Given the description of an element on the screen output the (x, y) to click on. 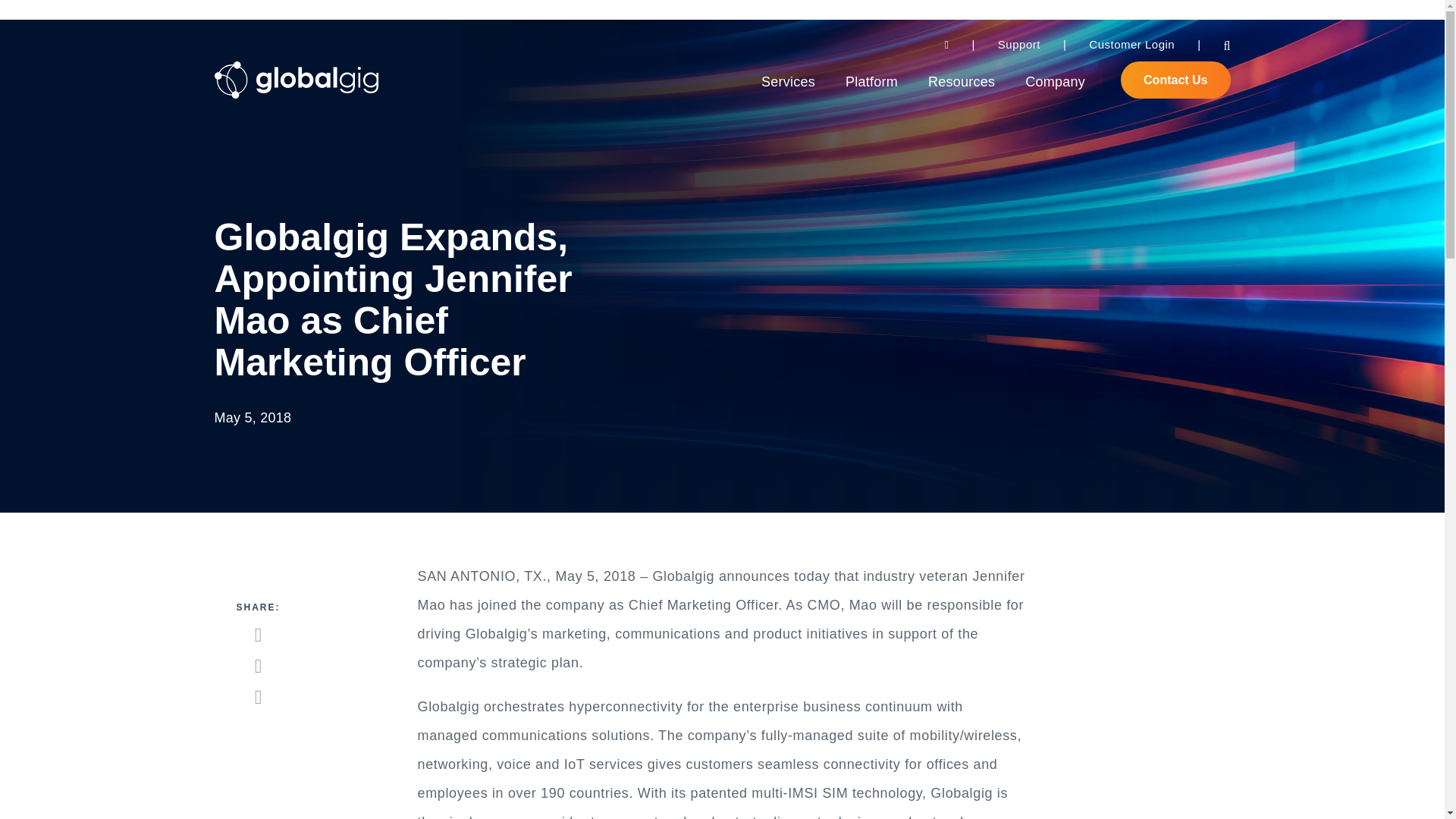
Company (1054, 81)
Platform (871, 81)
Support (1019, 44)
Resources (961, 81)
Contact Us (1175, 79)
Services (788, 81)
Customer Login (1131, 44)
